Given the description of an element on the screen output the (x, y) to click on. 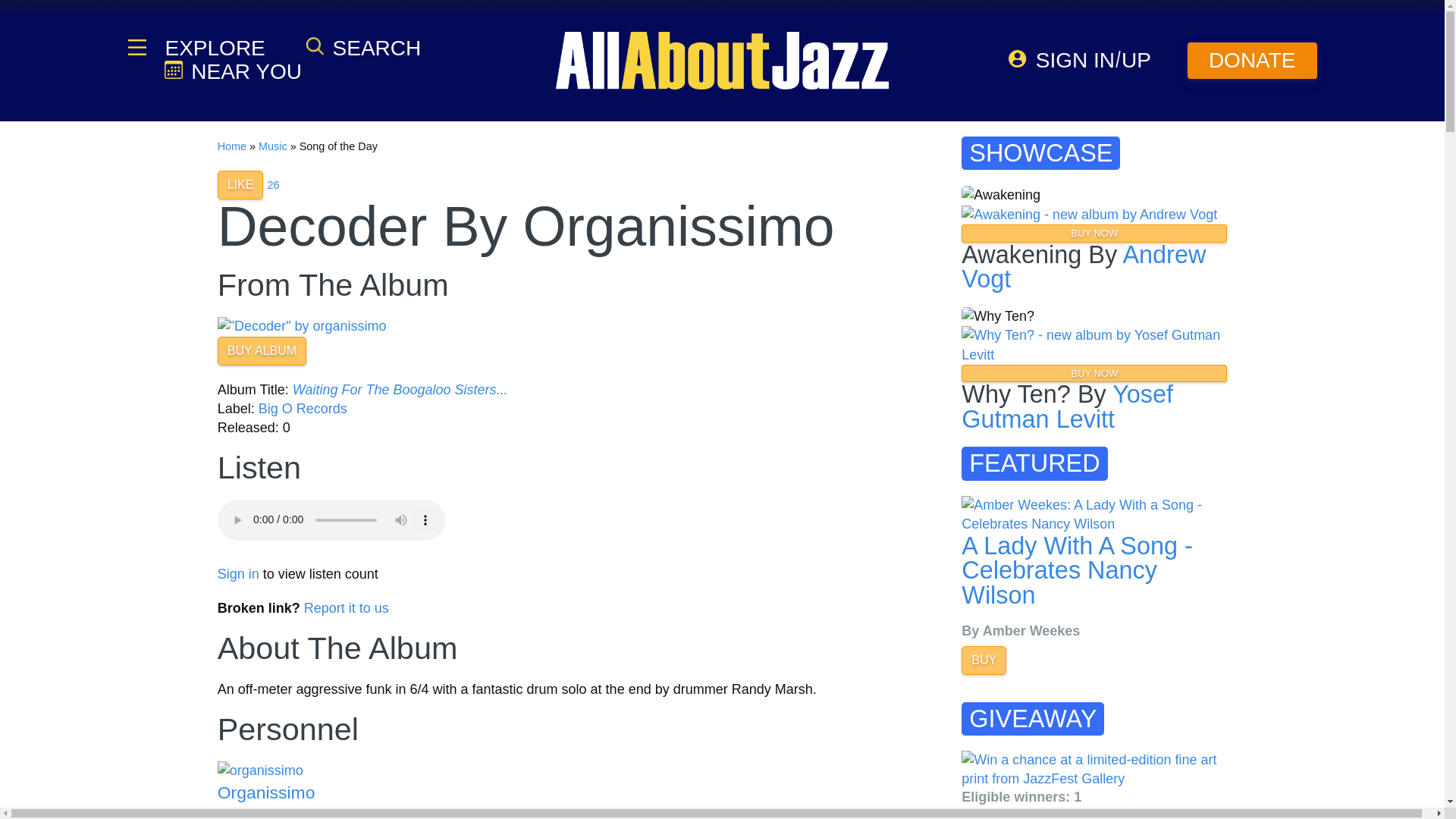
SEARCH (362, 47)
26 (272, 184)
Purchase this music (301, 325)
Visit organissimo at All About Jazz (304, 770)
SIGN IN UP (1080, 60)
Music (272, 146)
Organissimo (265, 792)
BUY ALBUM (260, 350)
Home (231, 146)
Top 25 recommended jazz downloads (272, 184)
Click Here to Return to the All About Jazz Home Page (231, 146)
Purchase this music (260, 350)
View jazz concerts near you (232, 71)
Waiting For The Boogaloo Sisters... (400, 389)
Support All About Jazz and go ad-free! (1252, 60)
